Given the description of an element on the screen output the (x, y) to click on. 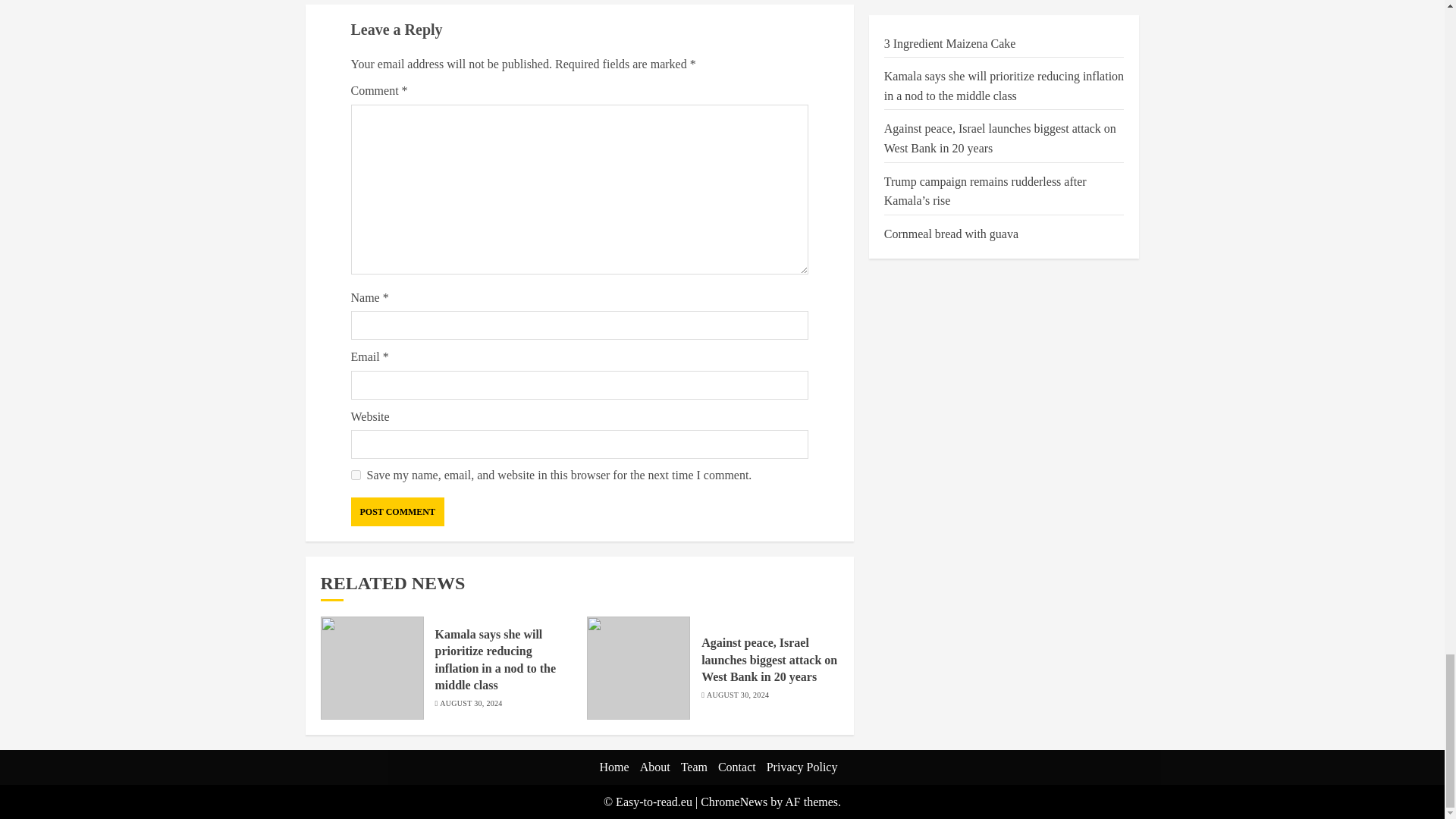
ChromeNews (733, 801)
yes (354, 474)
AUGUST 30, 2024 (470, 703)
About (654, 766)
Team (694, 766)
Home (613, 766)
Post Comment (397, 511)
Post Comment (397, 511)
